Given the description of an element on the screen output the (x, y) to click on. 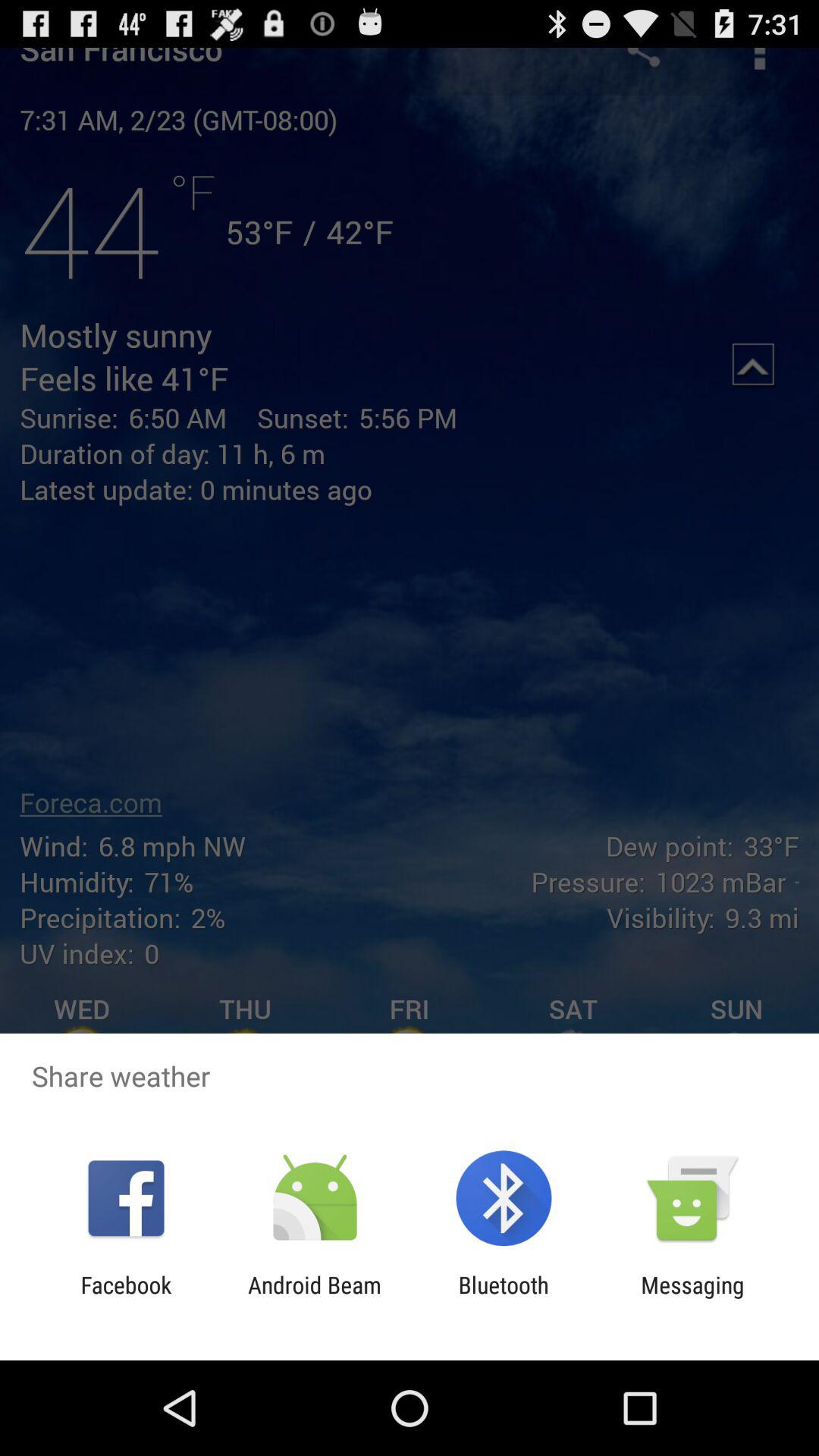
press facebook (125, 1298)
